Given the description of an element on the screen output the (x, y) to click on. 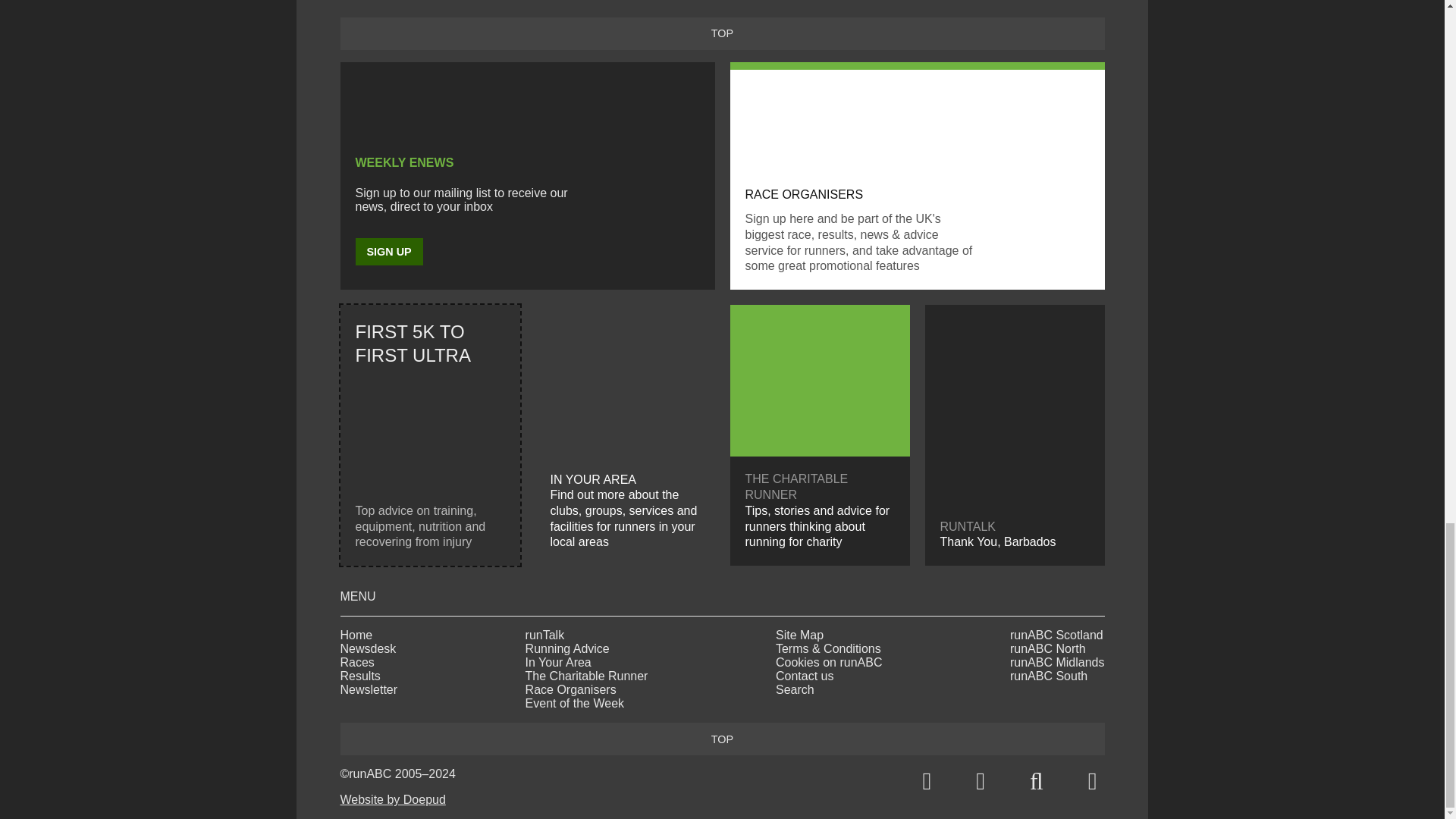
Search (1036, 781)
